Given the description of an element on the screen output the (x, y) to click on. 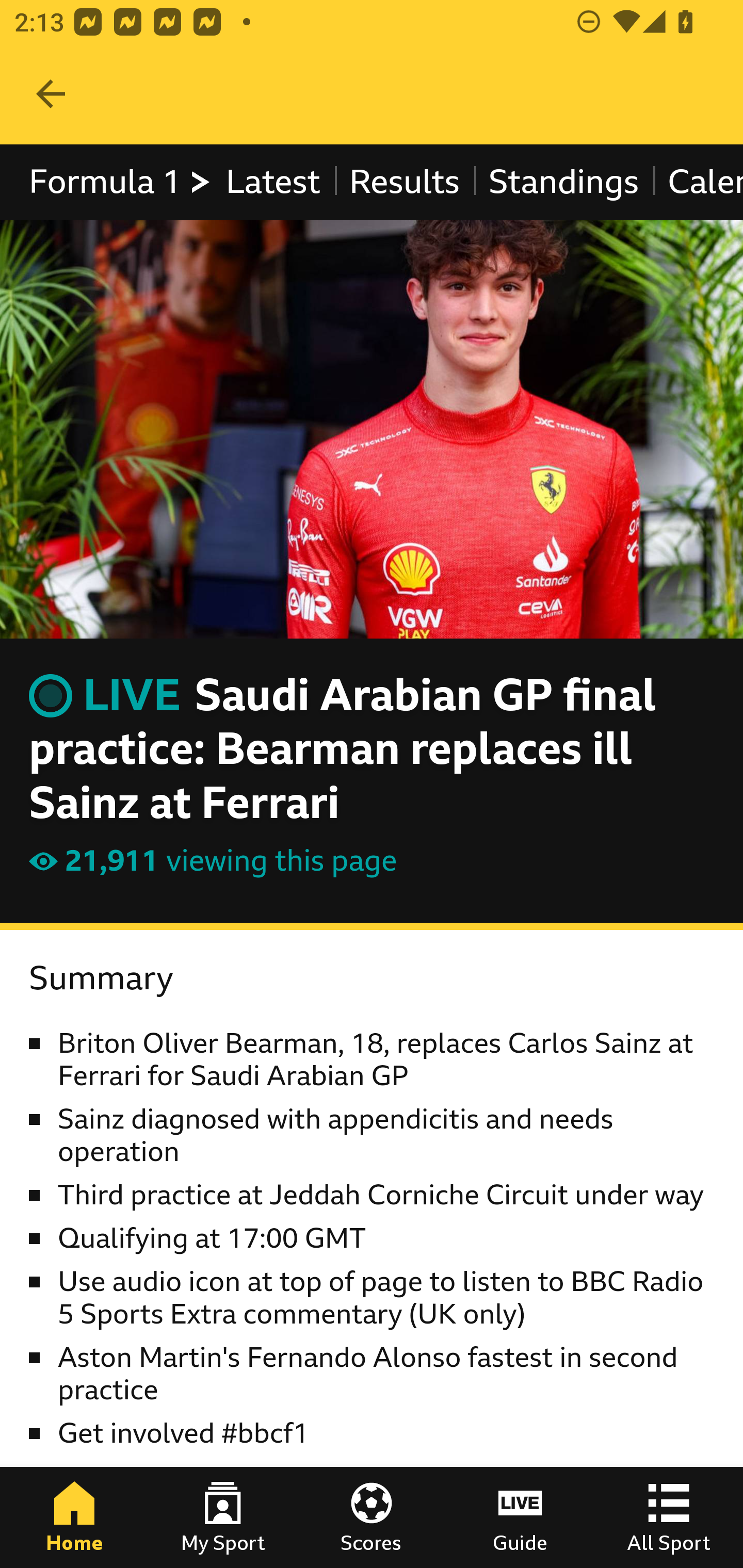
Navigate up (50, 93)
Formula 1  (120, 181)
Latest (272, 181)
Results (403, 181)
Standings (564, 181)
My Sport (222, 1517)
Scores (371, 1517)
Guide (519, 1517)
All Sport (668, 1517)
